Given the description of an element on the screen output the (x, y) to click on. 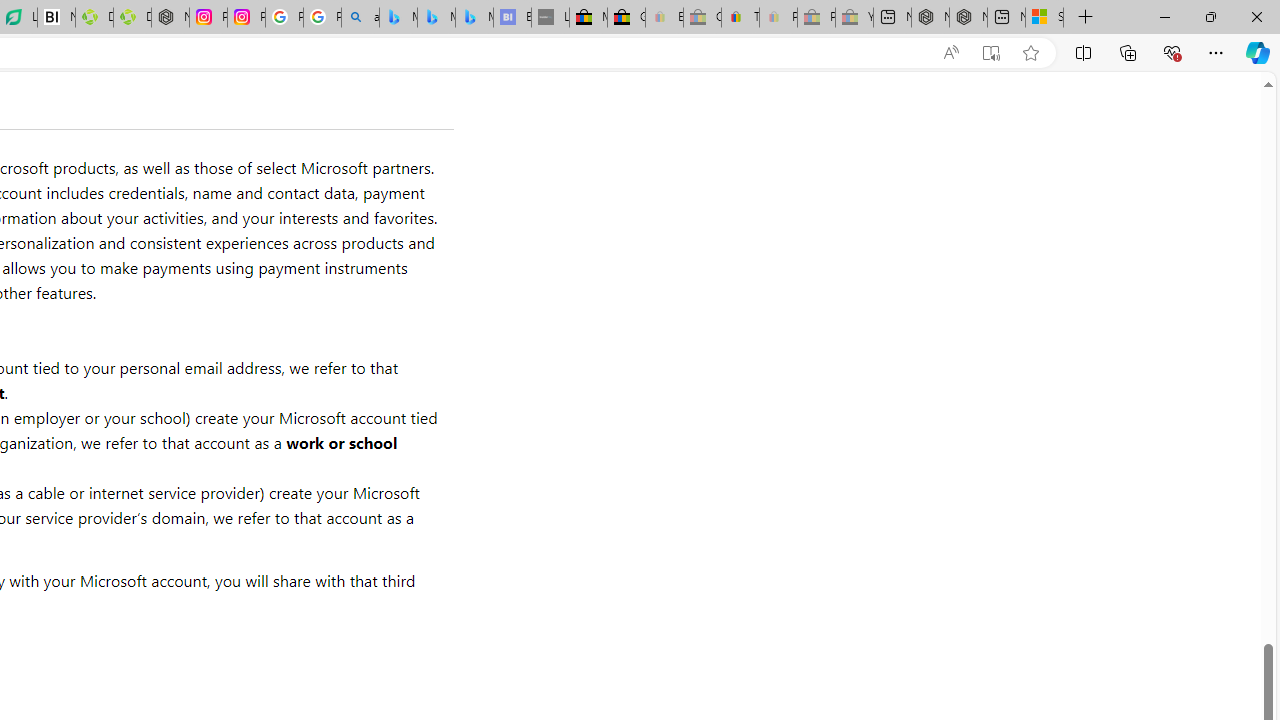
Nordace - Summer Adventures 2024 (967, 17)
Press Room - eBay Inc. - Sleeping (815, 17)
Payments Terms of Use | eBay.com - Sleeping (778, 17)
Nvidia va a poner a prueba la paciencia de los inversores (56, 17)
Threats and offensive language policy | eBay (740, 17)
